Given the description of an element on the screen output the (x, y) to click on. 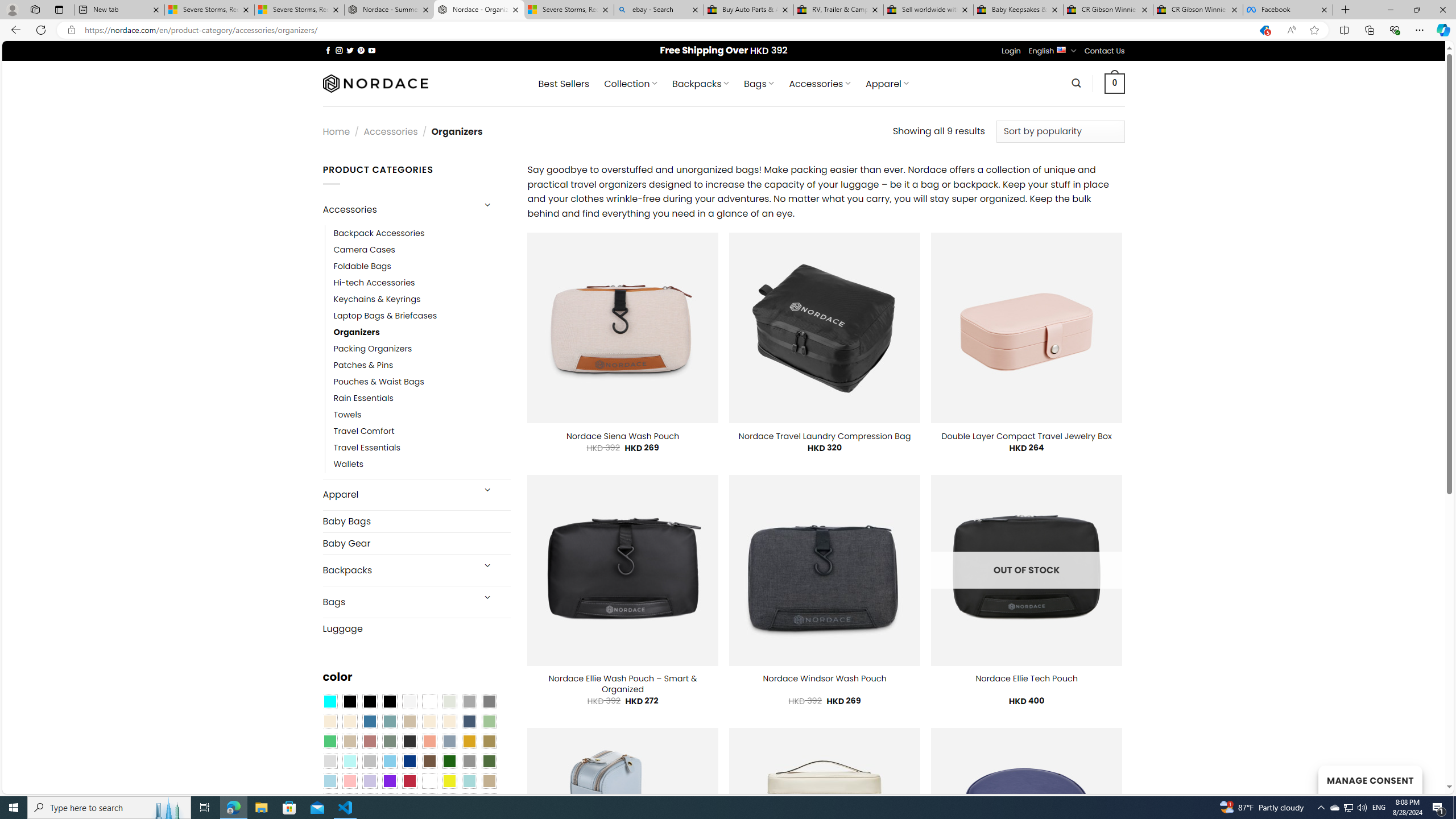
Travel Comfort (363, 431)
Settings and more (Alt+F) (1419, 29)
Beige-Brown (349, 721)
Khaki (488, 780)
Contact Us (1104, 50)
Pink (349, 780)
Facebook (1287, 9)
Black (369, 701)
Personal Profile (12, 9)
MANAGE CONSENT (1369, 779)
